Given the description of an element on the screen output the (x, y) to click on. 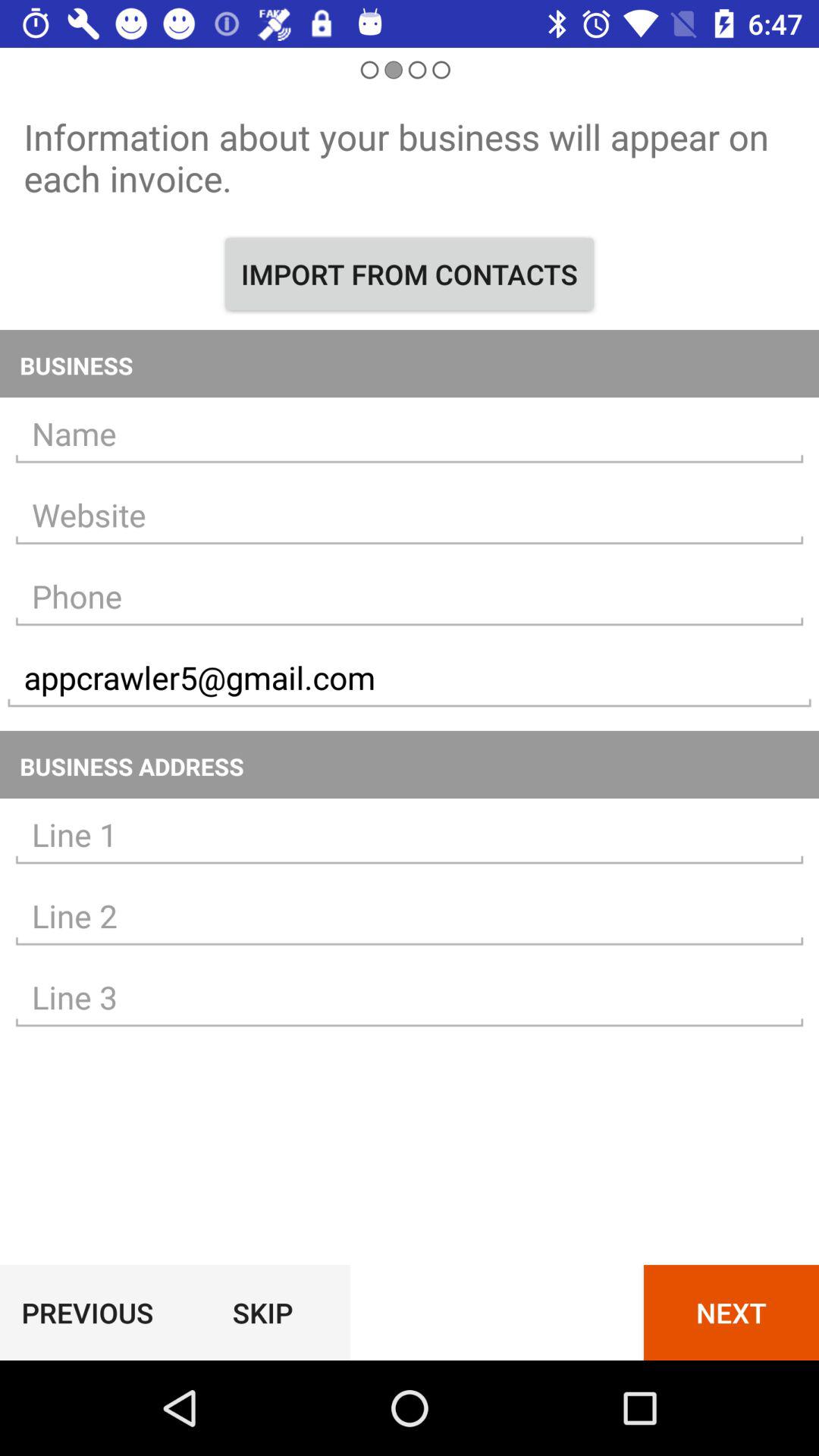
name of business for invoice (409, 433)
